Given the description of an element on the screen output the (x, y) to click on. 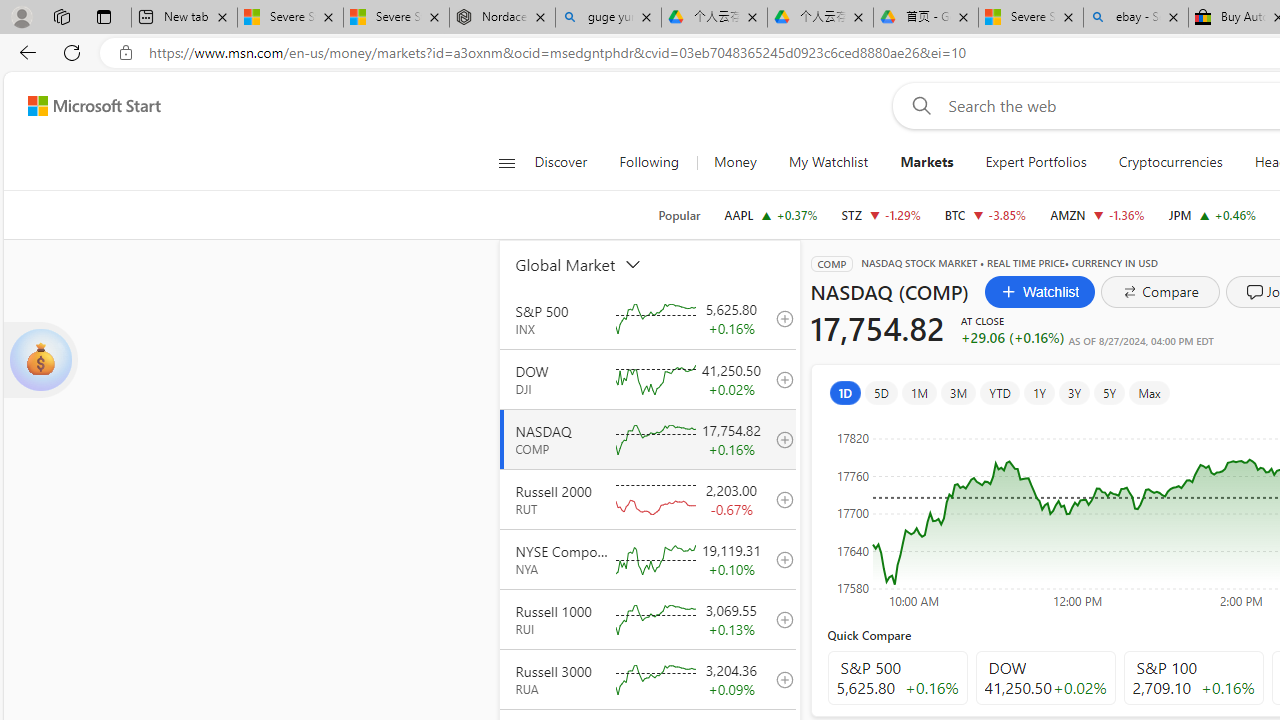
Cryptocurrencies (1170, 162)
guge yunpan - Search (607, 17)
Open navigation menu (506, 162)
1Y (1038, 392)
BTC Bitcoin decrease 60,014.19 -2,311.75 -3.85% (985, 214)
5D (881, 392)
Popular (679, 215)
Nordace - Summer Adventures 2024 (502, 17)
Compare (1159, 291)
Money (734, 162)
ebay - Search (1135, 17)
